Given the description of an element on the screen output the (x, y) to click on. 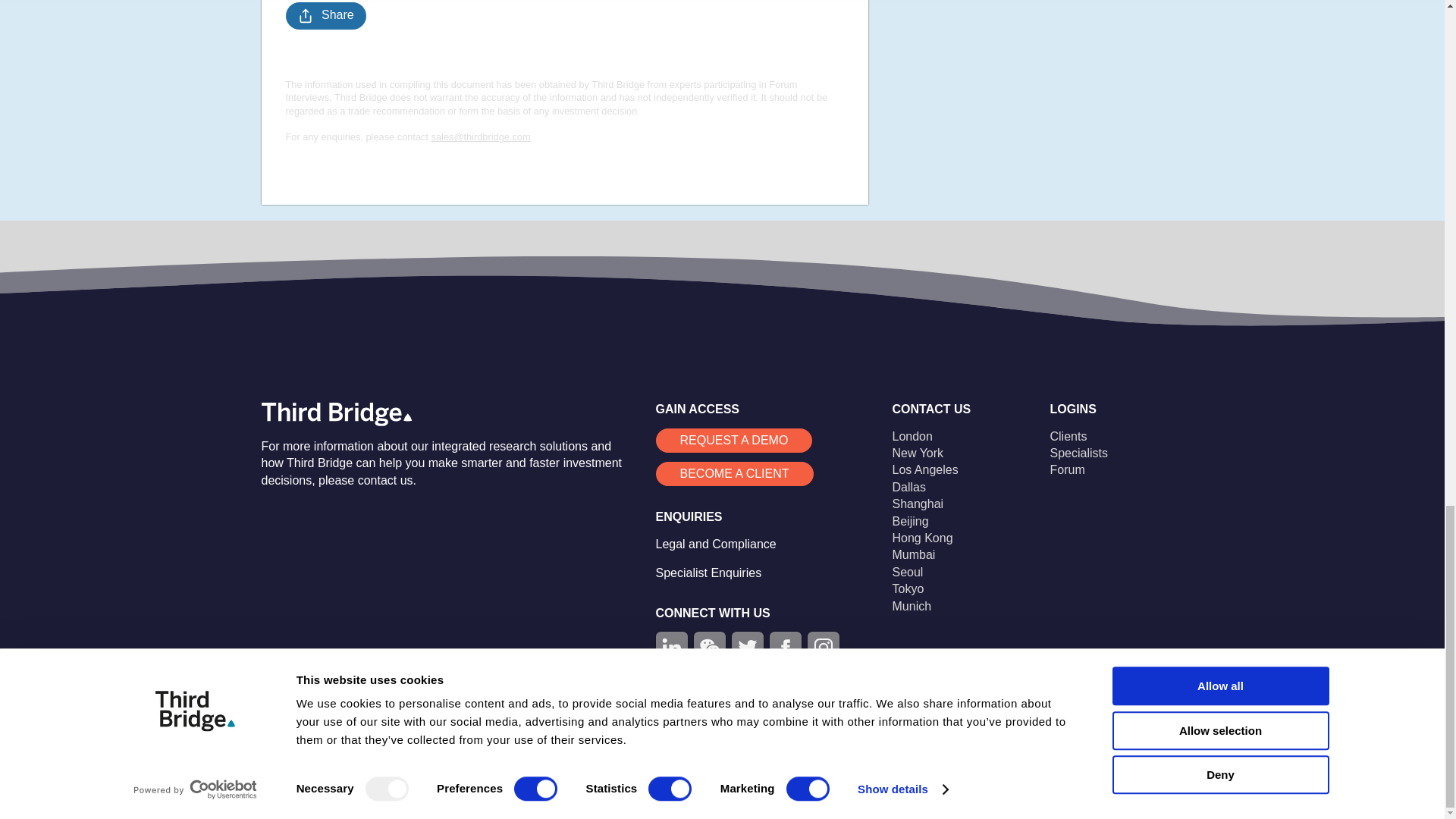
Share this article (325, 15)
